Given the description of an element on the screen output the (x, y) to click on. 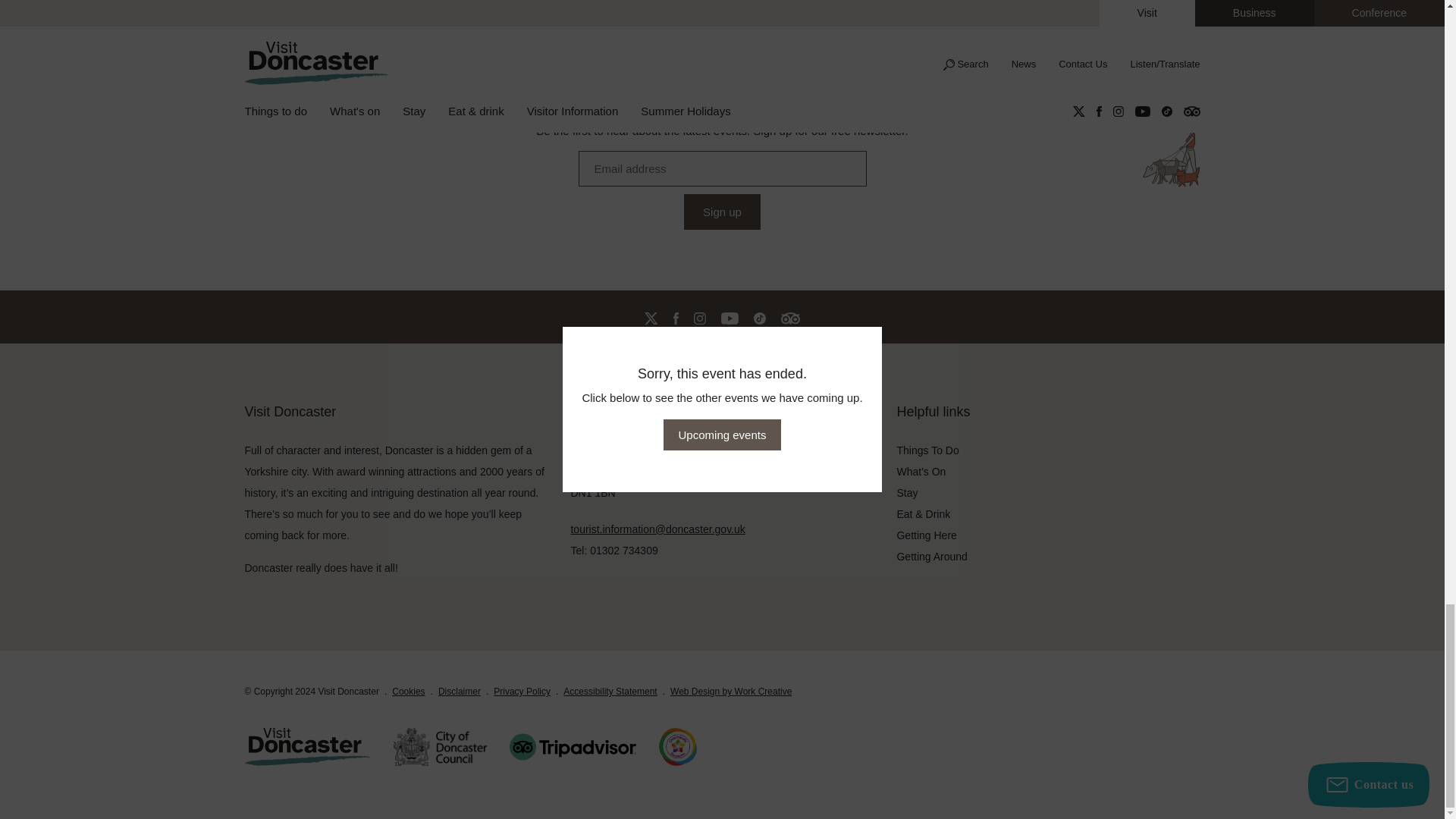
Sign up (722, 212)
